Given the description of an element on the screen output the (x, y) to click on. 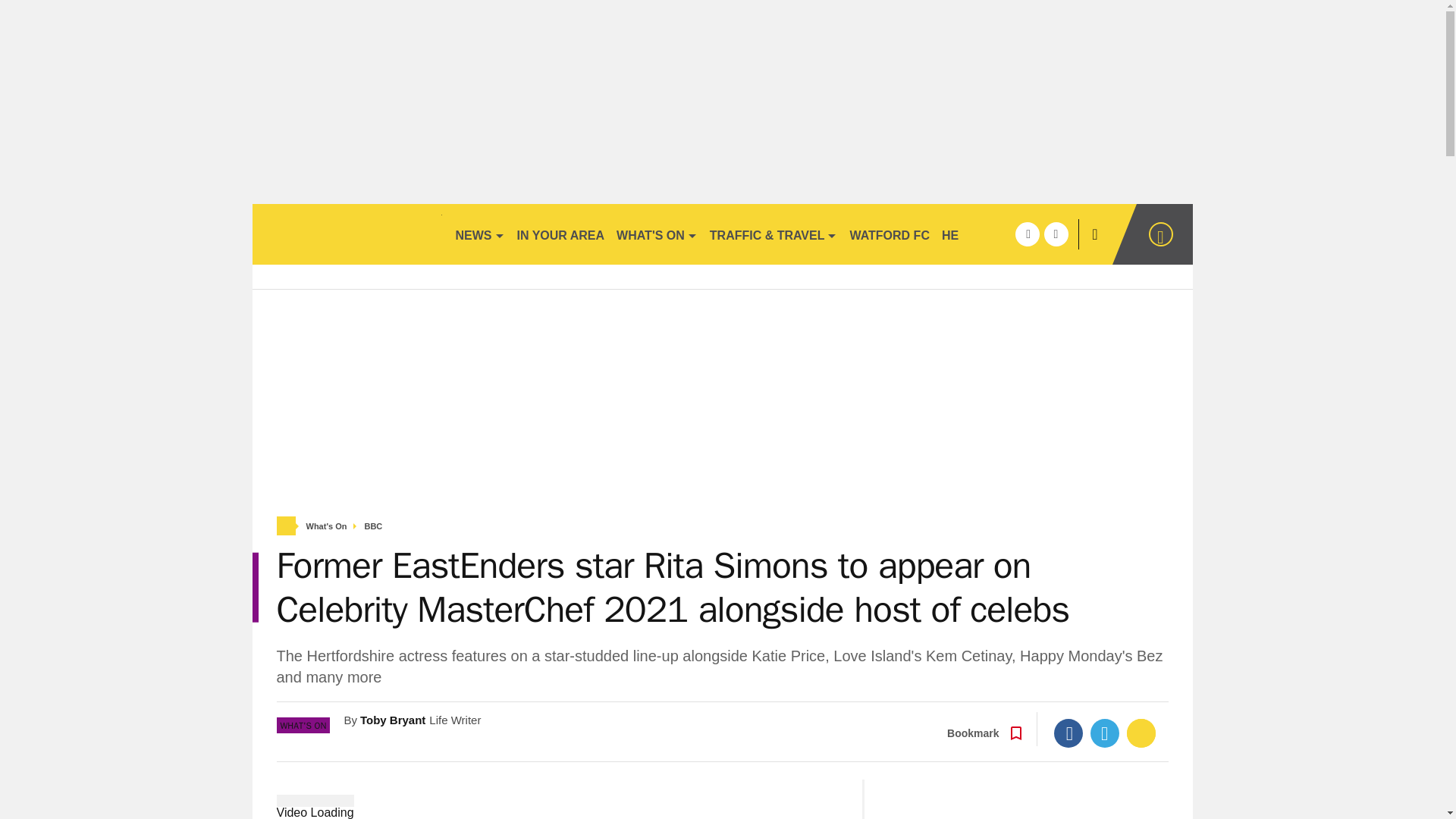
hertfordshiremercury (346, 233)
WATFORD FC (888, 233)
IN YOUR AREA (561, 233)
facebook (1026, 233)
NEWS (479, 233)
Twitter (1104, 733)
HEMEL HEMPSTEAD (1003, 233)
Facebook (1068, 733)
WHAT'S ON (656, 233)
twitter (1055, 233)
